Given the description of an element on the screen output the (x, y) to click on. 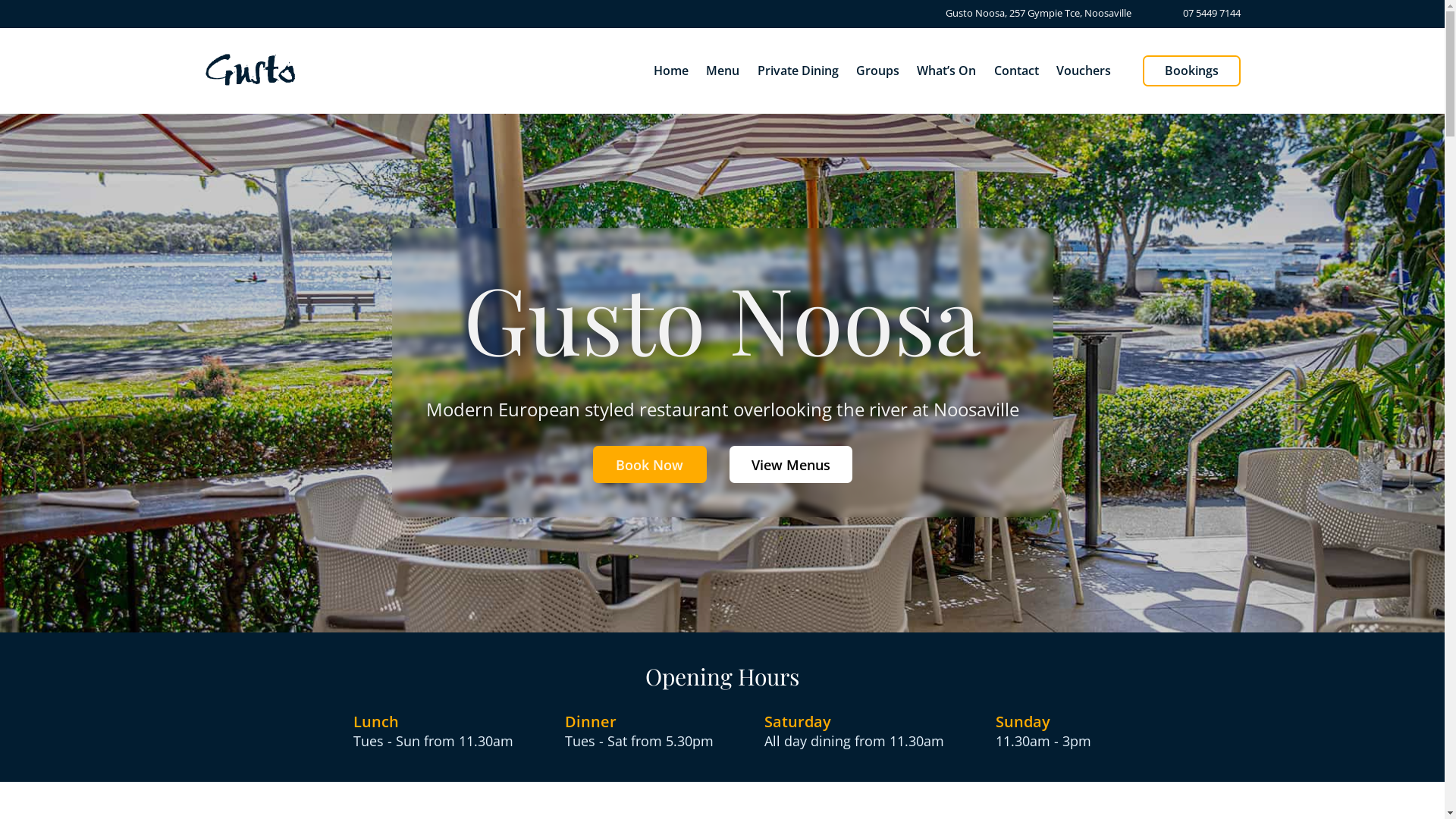
Bookings Element type: text (1191, 70)
View Menus Element type: text (790, 464)
Home Element type: text (670, 70)
Private Dining Element type: text (797, 70)
Vouchers Element type: text (1083, 70)
Gusto Element type: text (249, 69)
Groups Element type: text (877, 70)
Book Now Element type: text (649, 464)
Menu Element type: text (722, 70)
Contact Element type: text (1016, 70)
